Given the description of an element on the screen output the (x, y) to click on. 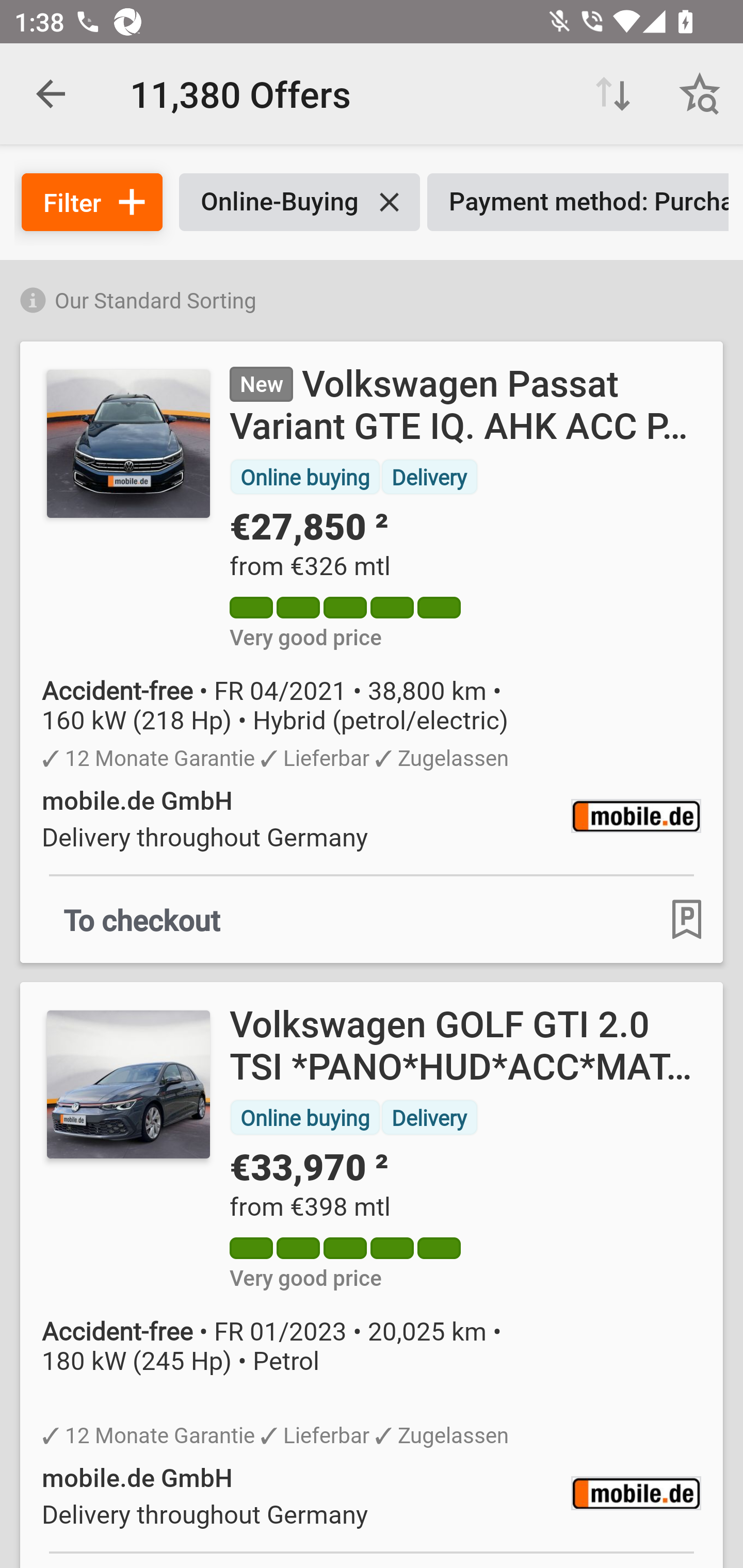
Navigate up (50, 93)
Sort options (612, 93)
Save search (699, 93)
Online-Buying Remove Online-Buying (299, 202)
Payment method: Purchase (577, 202)
Filter (91, 202)
Our Standard Sorting (371, 296)
To checkout (142, 919)
